Given the description of an element on the screen output the (x, y) to click on. 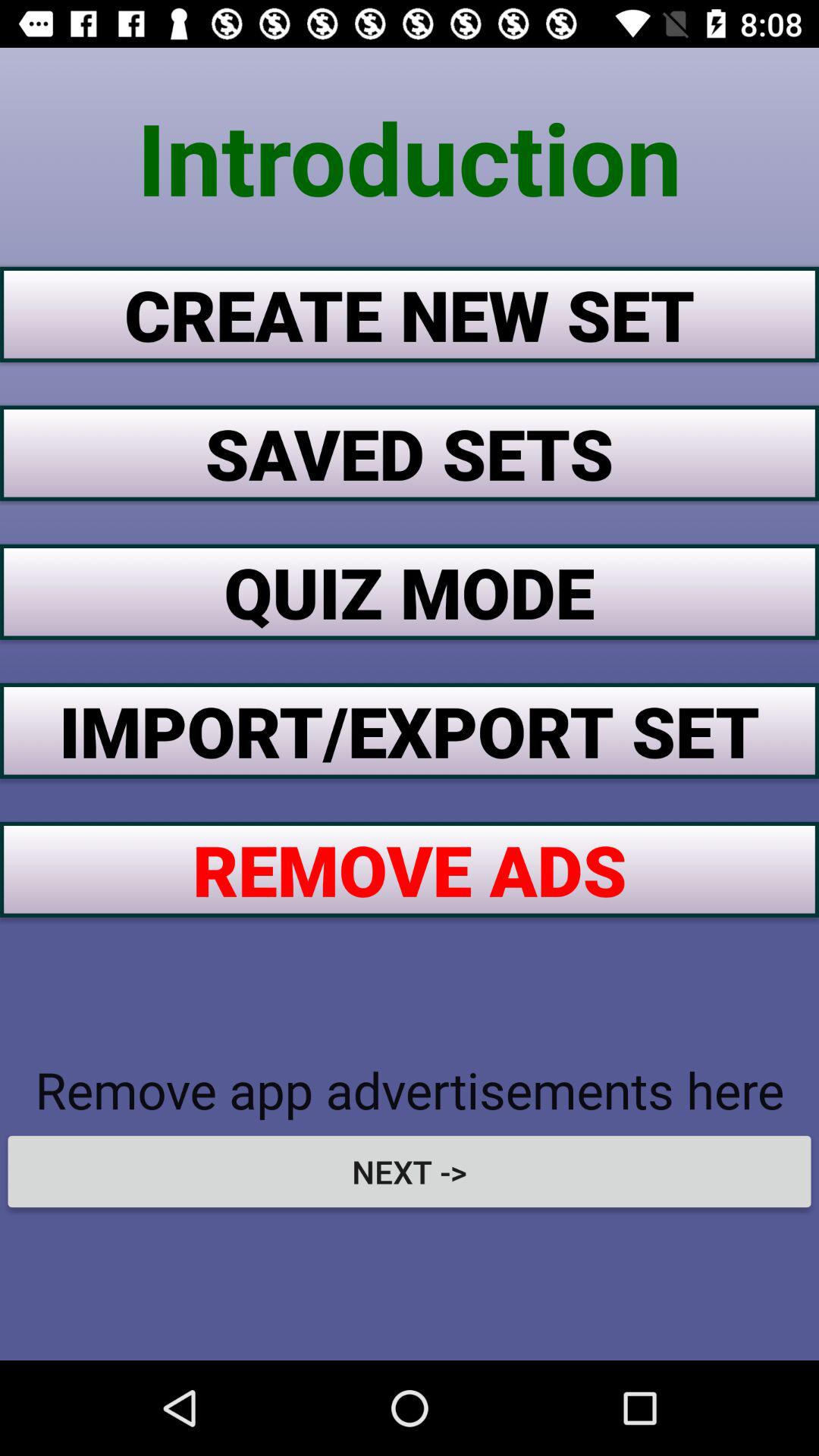
scroll to the next -> button (409, 1171)
